Given the description of an element on the screen output the (x, y) to click on. 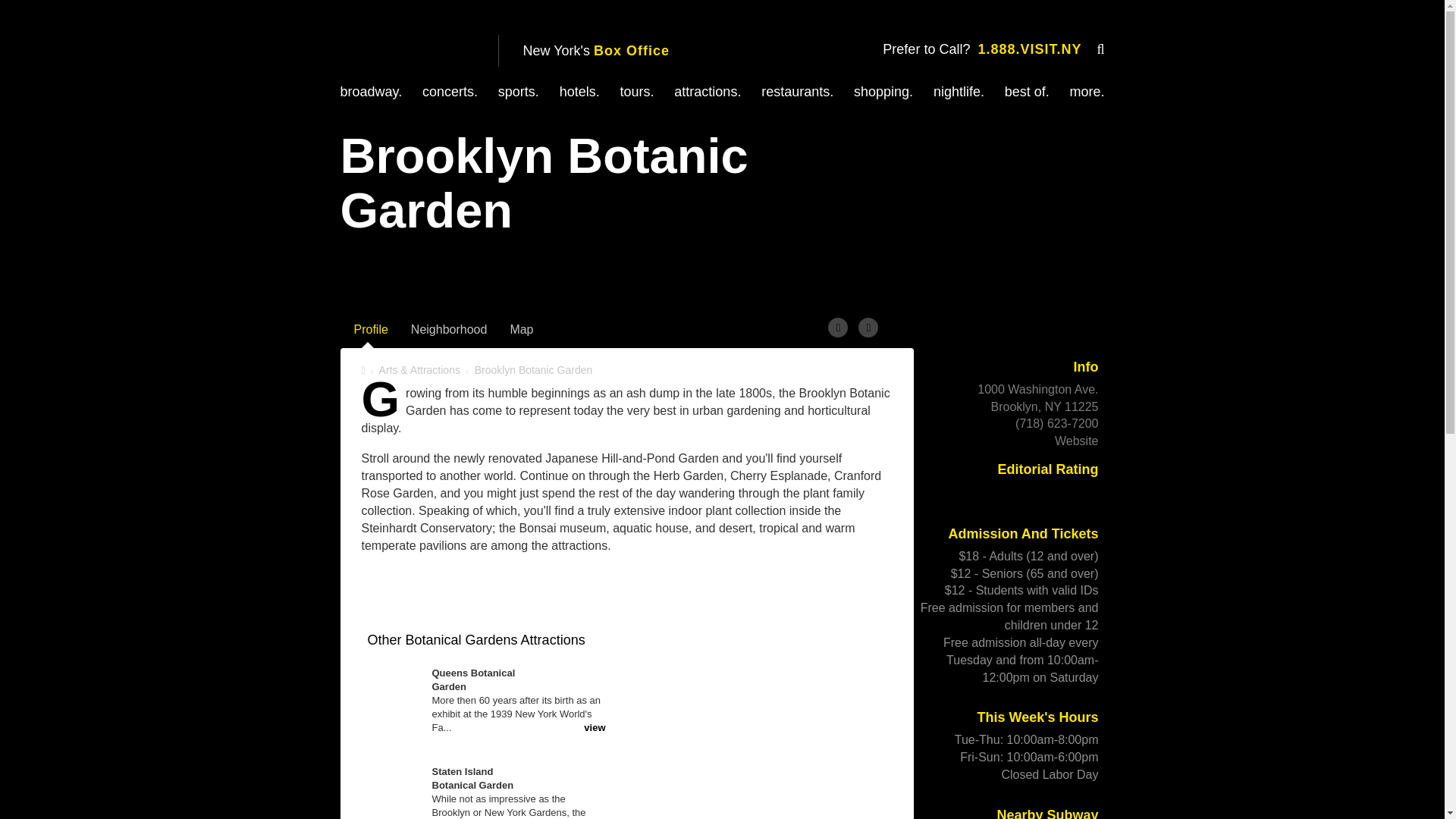
tours. (636, 91)
sports. (517, 91)
concerts. (449, 91)
shopping. (882, 91)
hotels. (579, 91)
restaurants. (796, 91)
best of. (1026, 91)
broadway. (370, 91)
attractions. (707, 91)
nightlife. (958, 91)
